Given the description of an element on the screen output the (x, y) to click on. 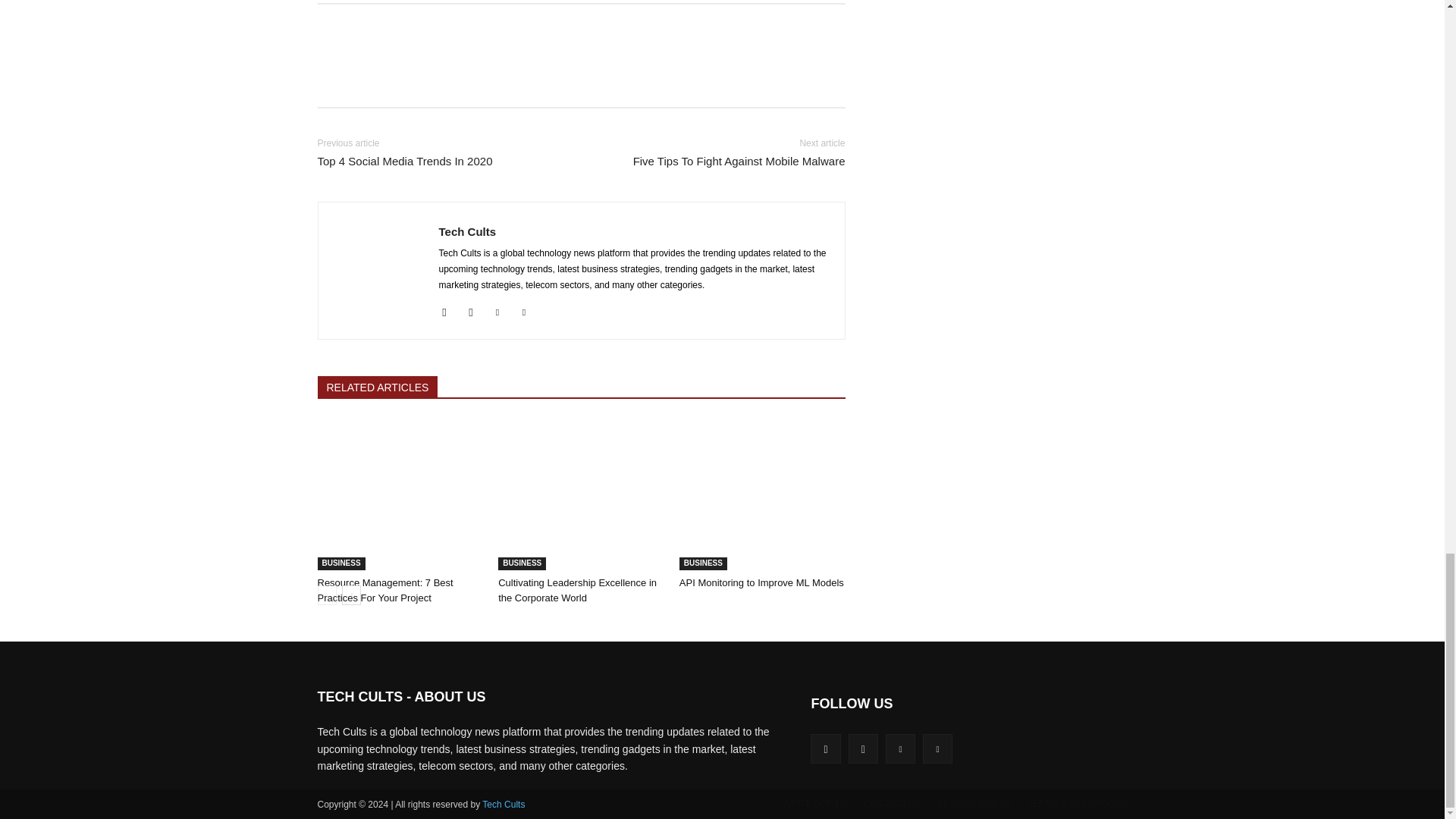
instagram (471, 309)
facebook (443, 309)
